Given the description of an element on the screen output the (x, y) to click on. 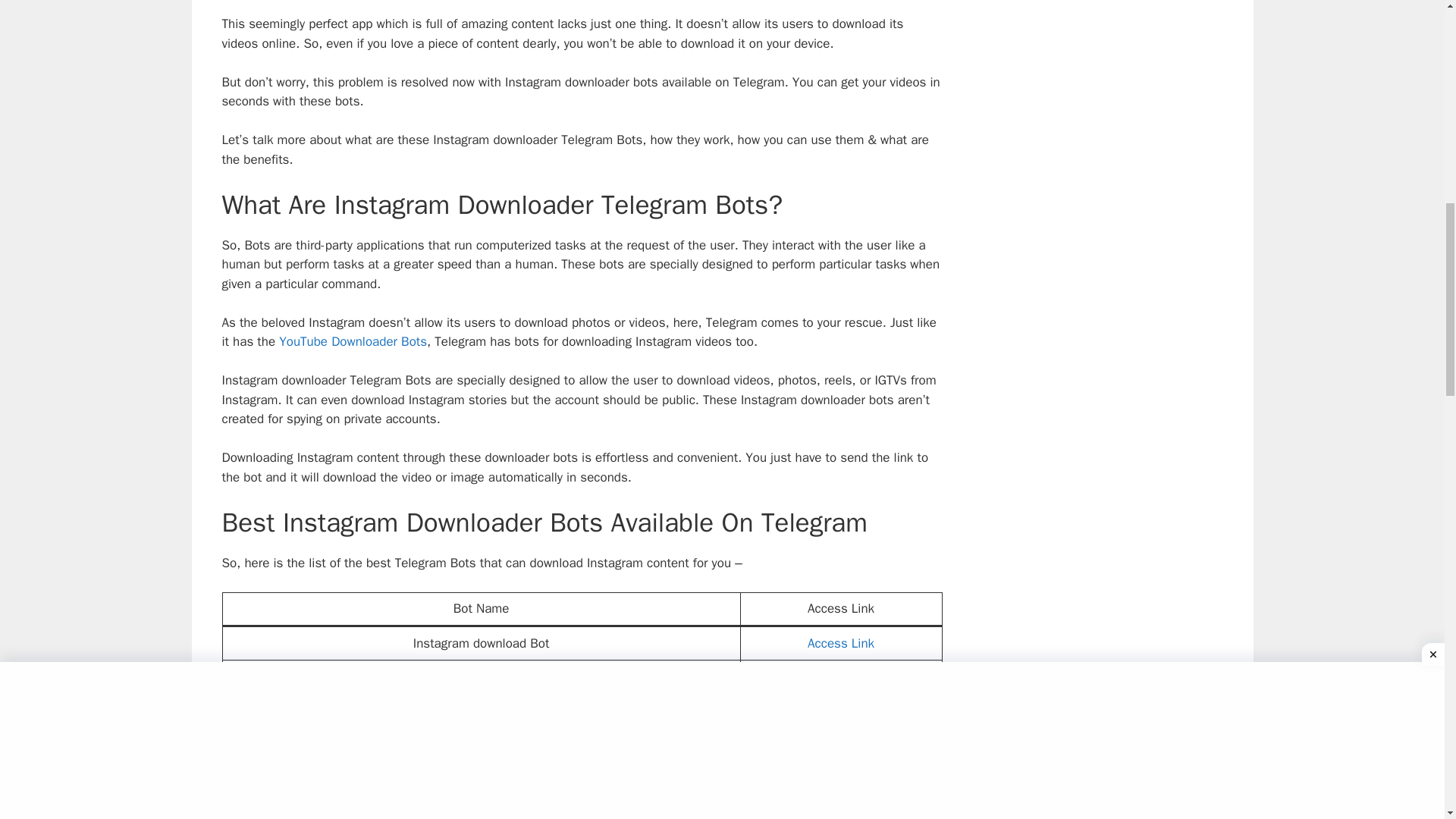
Access Link (841, 709)
Scroll back to top (1406, 720)
Access Link (841, 675)
YouTube Downloader Bots (352, 341)
Access Link (841, 643)
Access Link (841, 807)
Access Link (841, 774)
Access Link (841, 741)
